Given the description of an element on the screen output the (x, y) to click on. 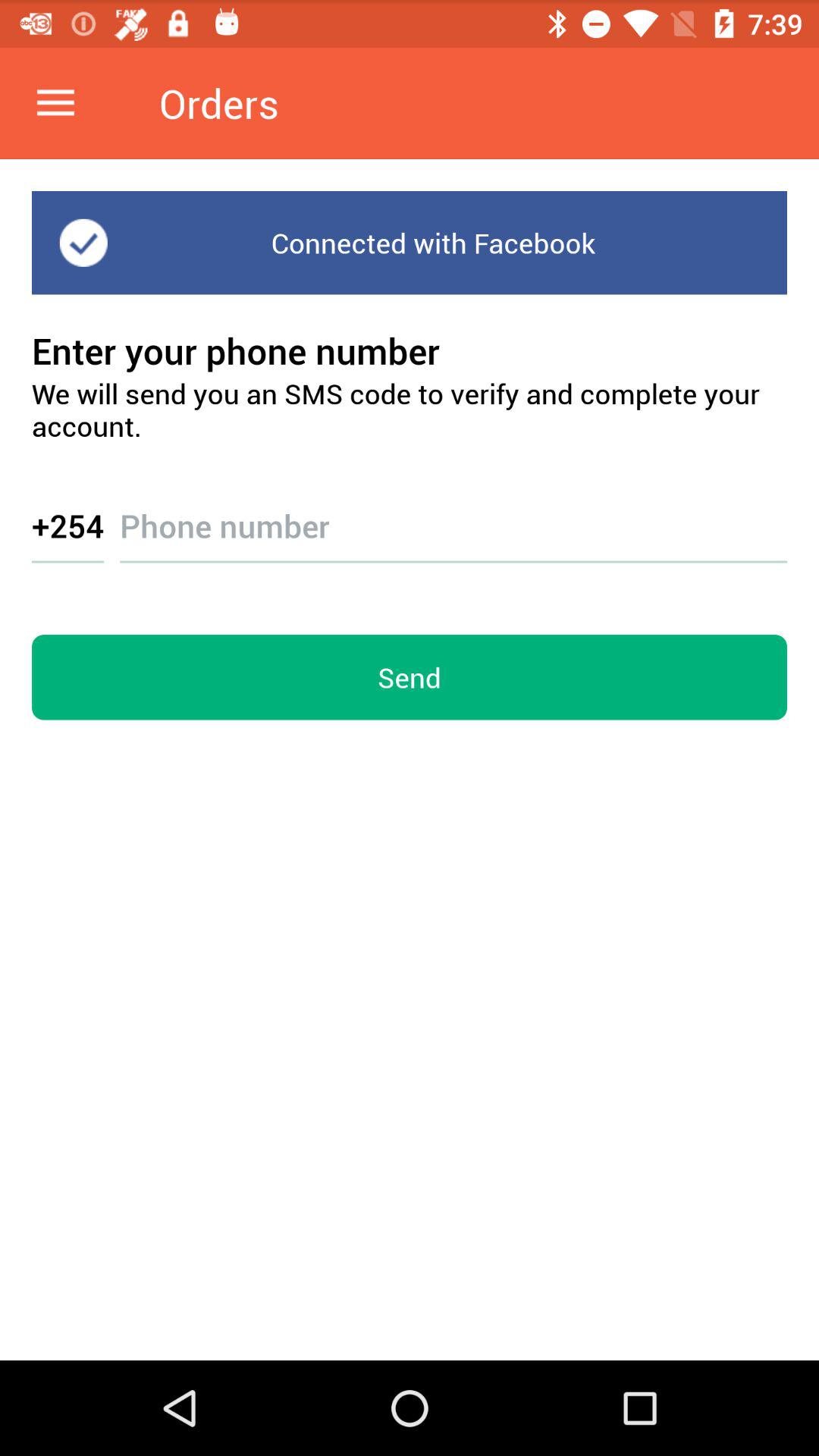
tap the +254 item (67, 525)
